Given the description of an element on the screen output the (x, y) to click on. 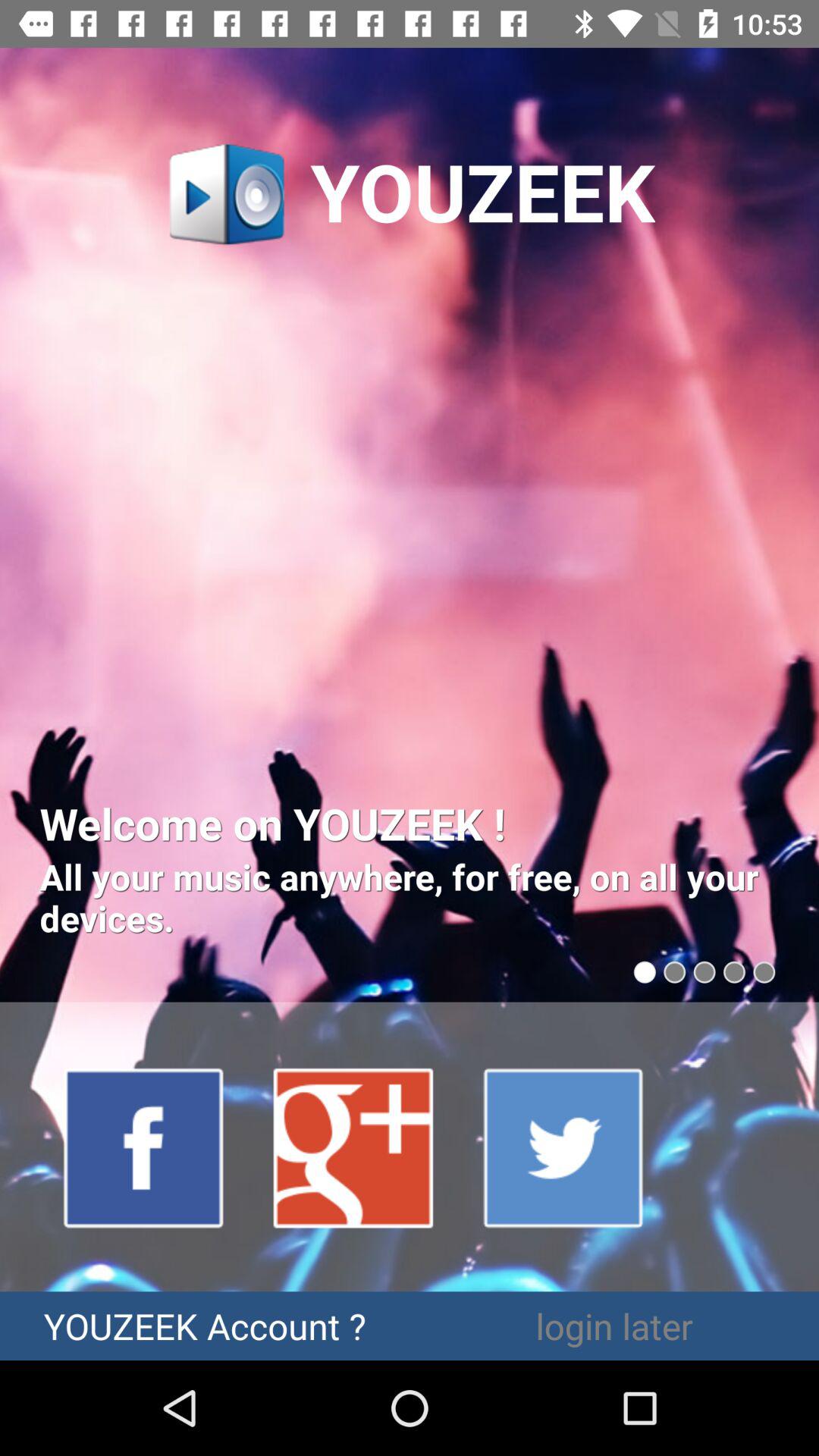
turn off item below all your music icon (144, 1146)
